Given the description of an element on the screen output the (x, y) to click on. 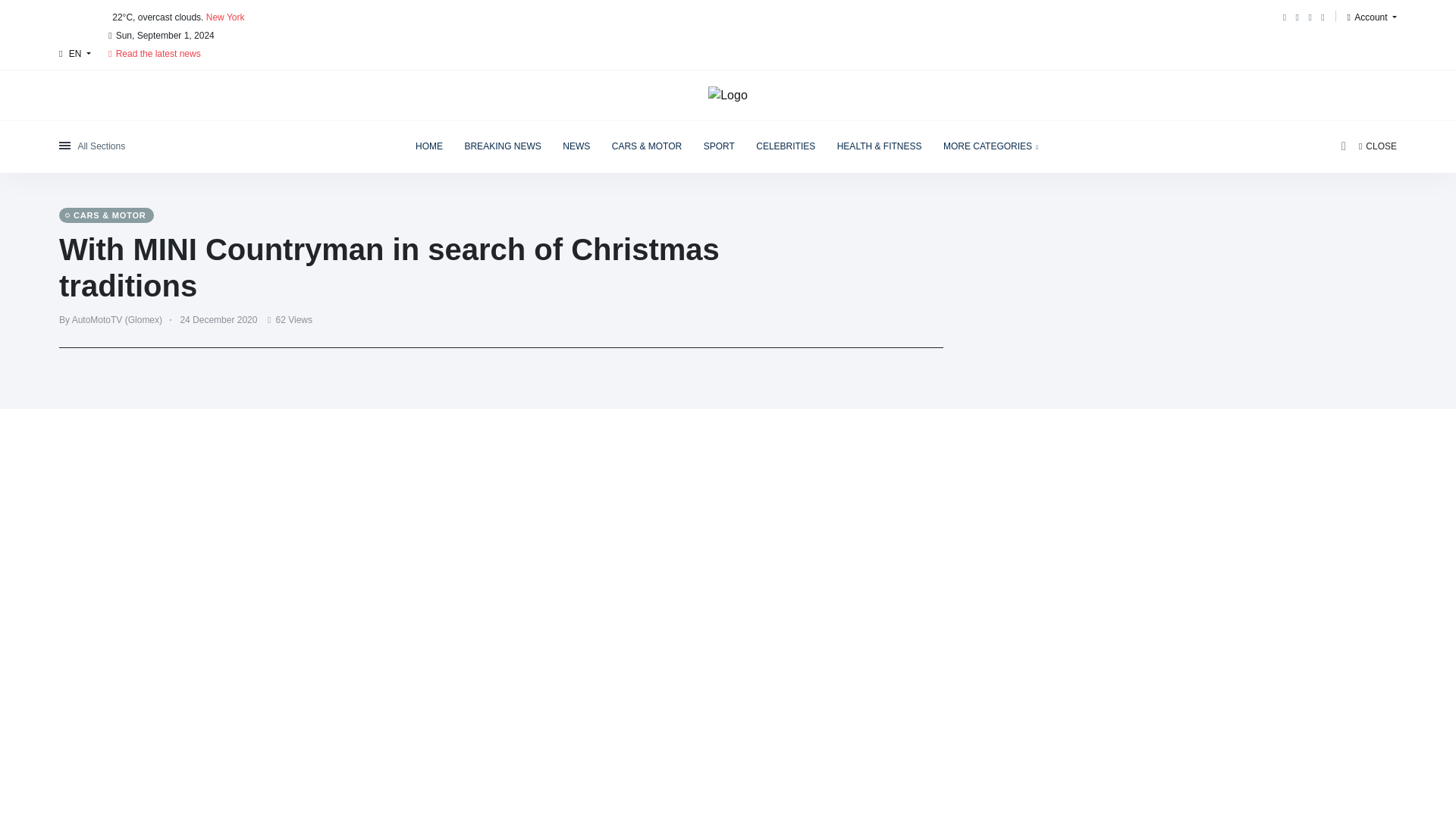
Account (1372, 17)
EN (74, 53)
Read the latest news (153, 51)
New York (225, 17)
